Given the description of an element on the screen output the (x, y) to click on. 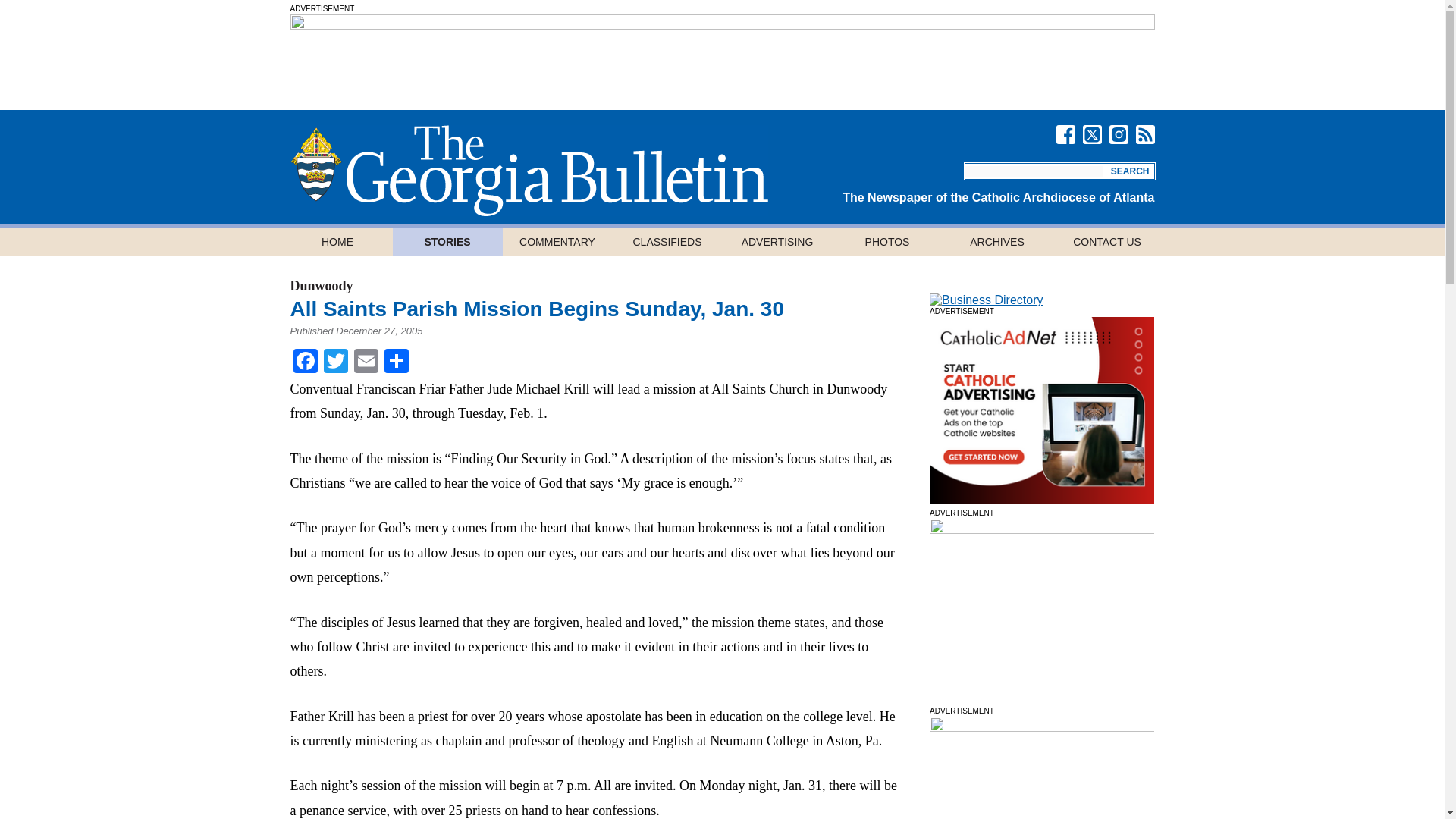
Search (1129, 171)
COMMENTARY (556, 241)
Find us on Facebook (1064, 134)
CLASSIFIEDS (667, 241)
Read more articles from Dunwoody (320, 285)
HOME (336, 241)
Twitter (335, 362)
Follow us on Twitter (1092, 134)
Grab our RSS Feed (1144, 134)
STORIES (447, 241)
Follow us on Instagram (1117, 134)
Georgia Bulletin (528, 170)
Facebook (304, 362)
Email (365, 362)
Search (1129, 171)
